Given the description of an element on the screen output the (x, y) to click on. 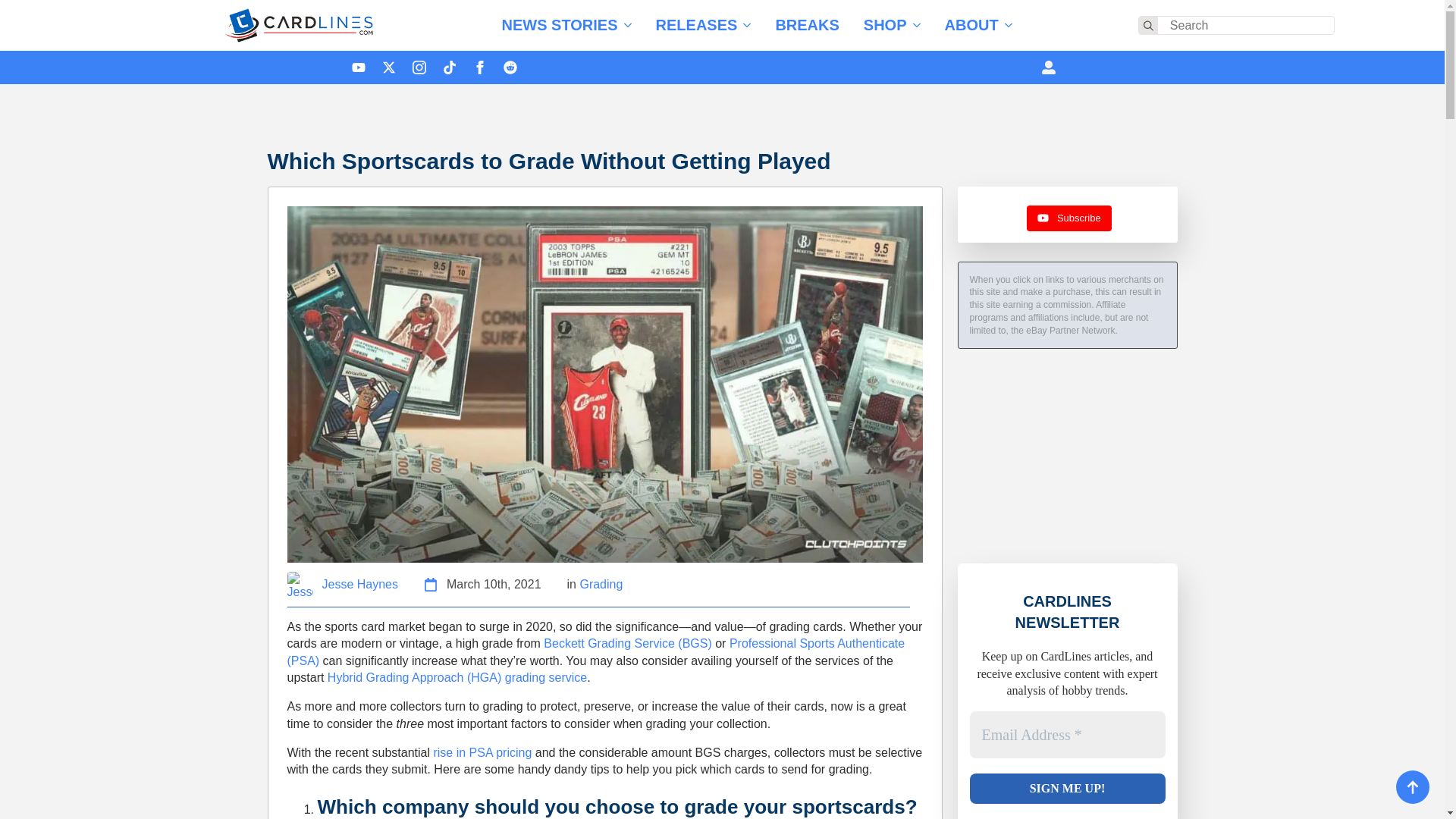
ABOUT (965, 24)
Email Address (1066, 734)
NEWS STORIES (553, 24)
SHOP (879, 24)
RELEASES (690, 24)
BREAKS (806, 24)
SIGN ME UP! (1066, 788)
